Given the description of an element on the screen output the (x, y) to click on. 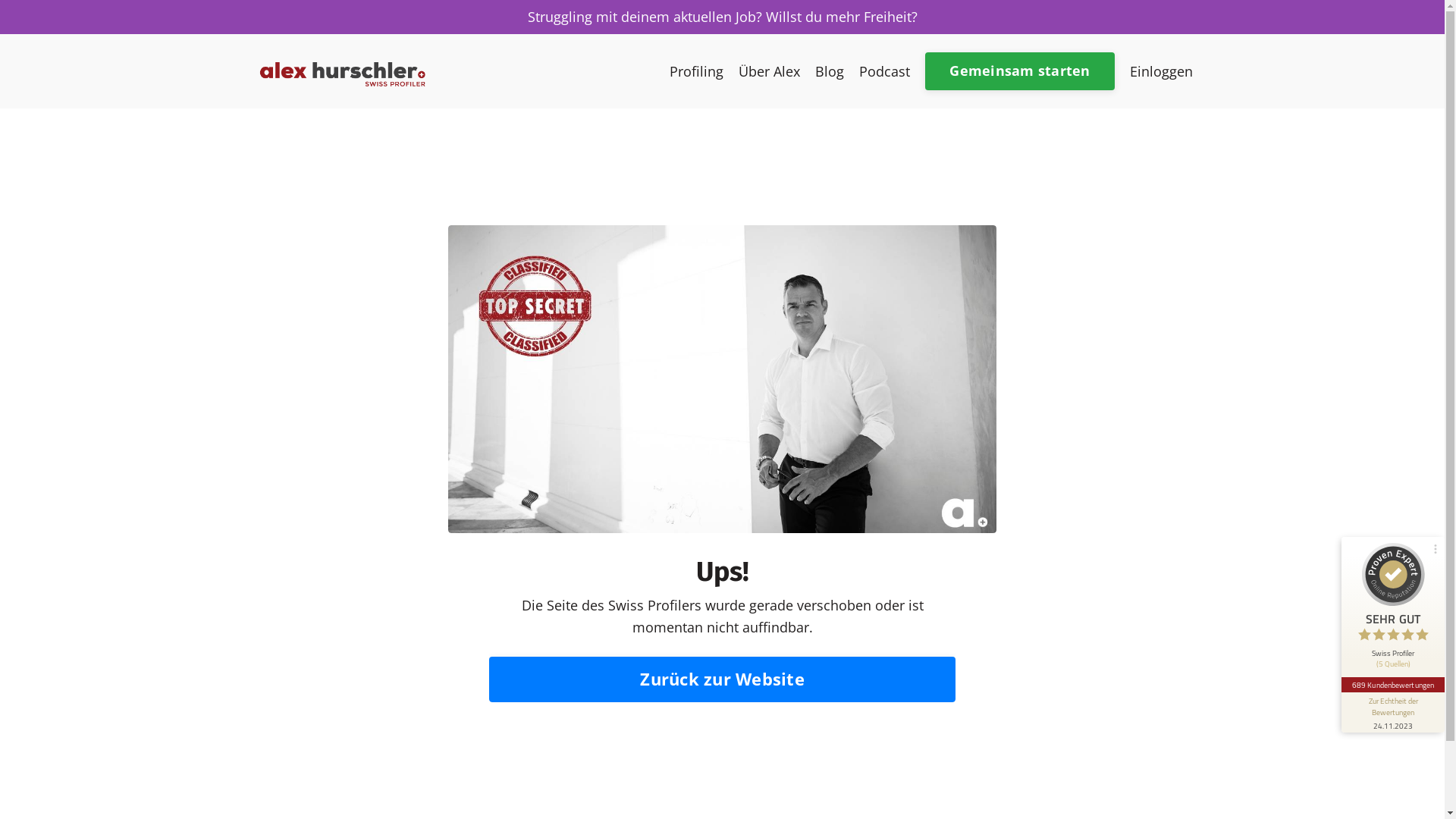
Einloggen Element type: text (1160, 71)
Blick aufs ProvenExpert-Profil werfen Element type: text (1330, 596)
Blog Element type: text (829, 71)
Gemeinsam starten Element type: text (1019, 71)
Podcast Element type: text (884, 71)
Zur Echtheit der
Bewertungen
24.11.2023 Element type: text (1392, 712)
Profiling Element type: text (696, 71)
Vorherige Kundenstimme Element type: hover (1430, 653)
